Given the description of an element on the screen output the (x, y) to click on. 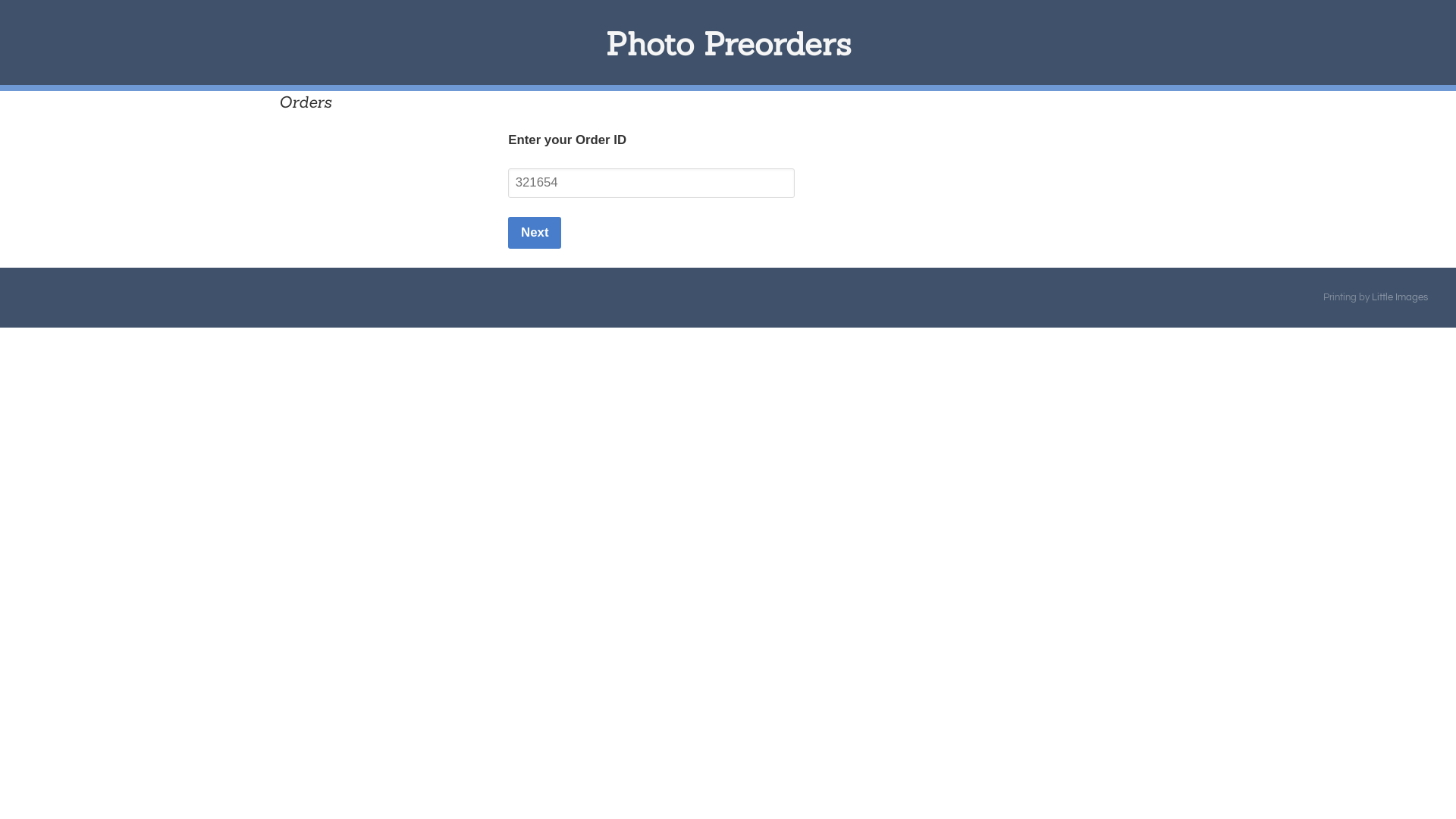
Next Element type: text (534, 232)
Little Images Element type: text (1399, 297)
